Given the description of an element on the screen output the (x, y) to click on. 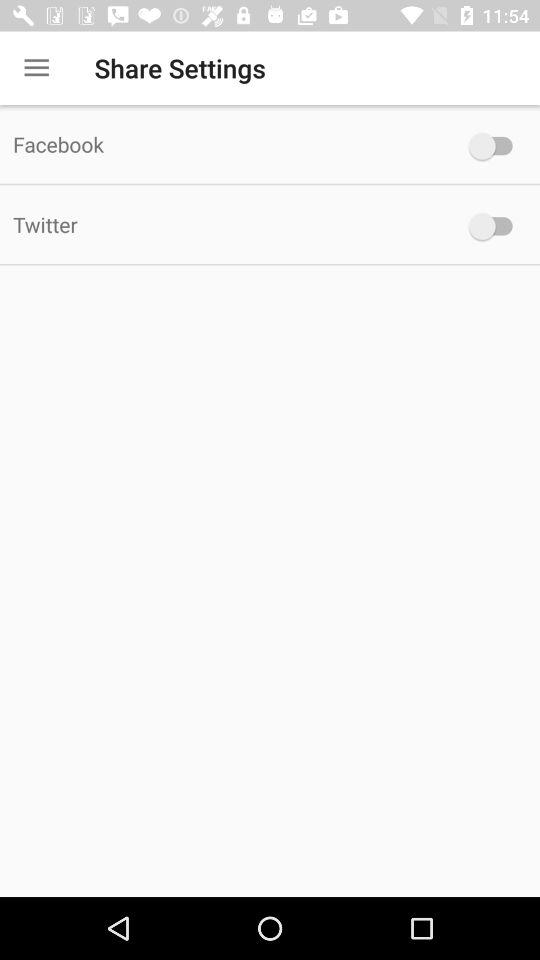
scroll to the twitter icon (225, 224)
